Given the description of an element on the screen output the (x, y) to click on. 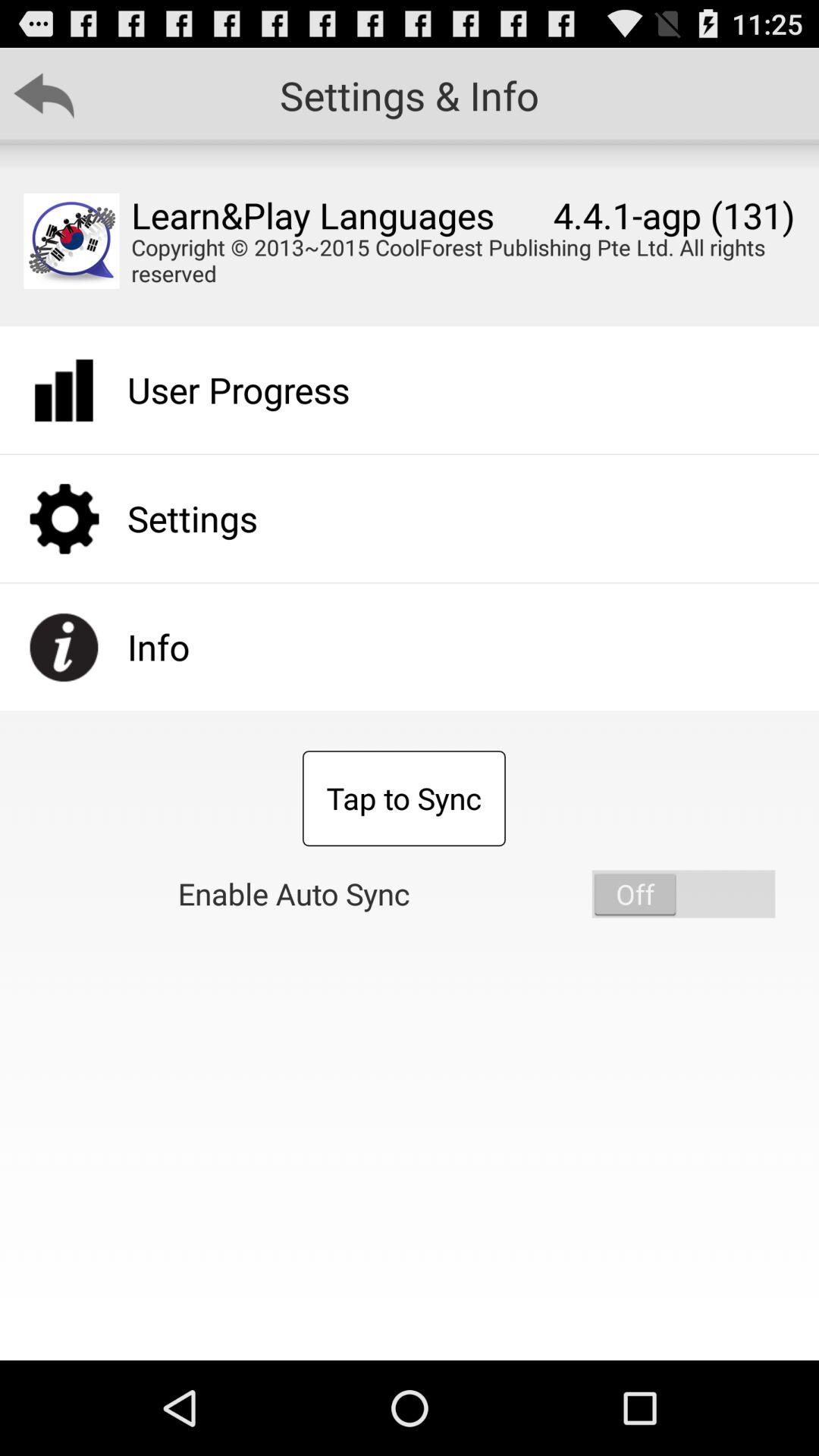
enable auto sync (683, 893)
